Given the description of an element on the screen output the (x, y) to click on. 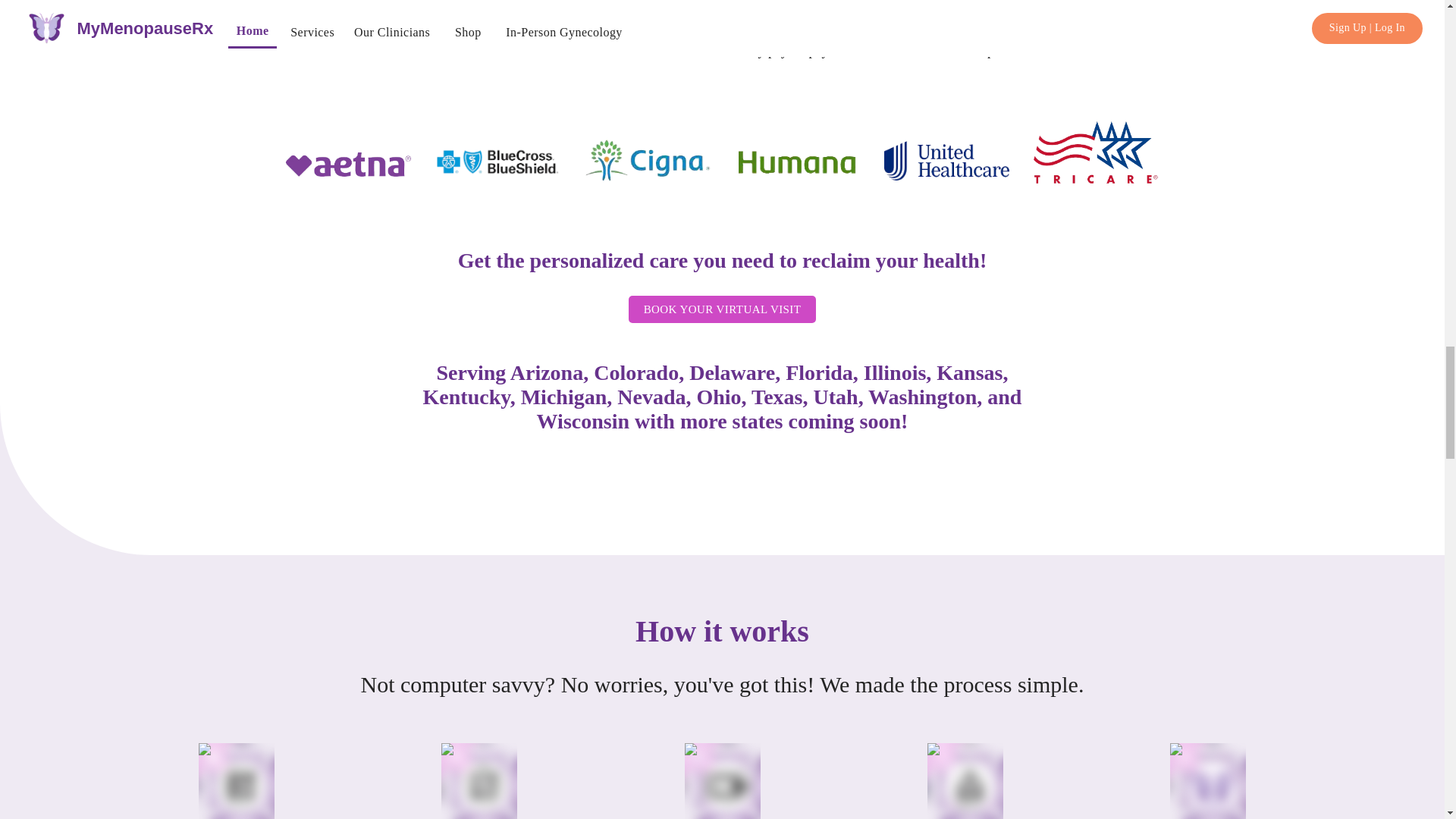
BOOK YOUR VIRTUAL VISIT (722, 308)
Use Health Insurance (820, 25)
BOOK YOUR VIRTUAL VISIT (722, 309)
